Given the description of an element on the screen output the (x, y) to click on. 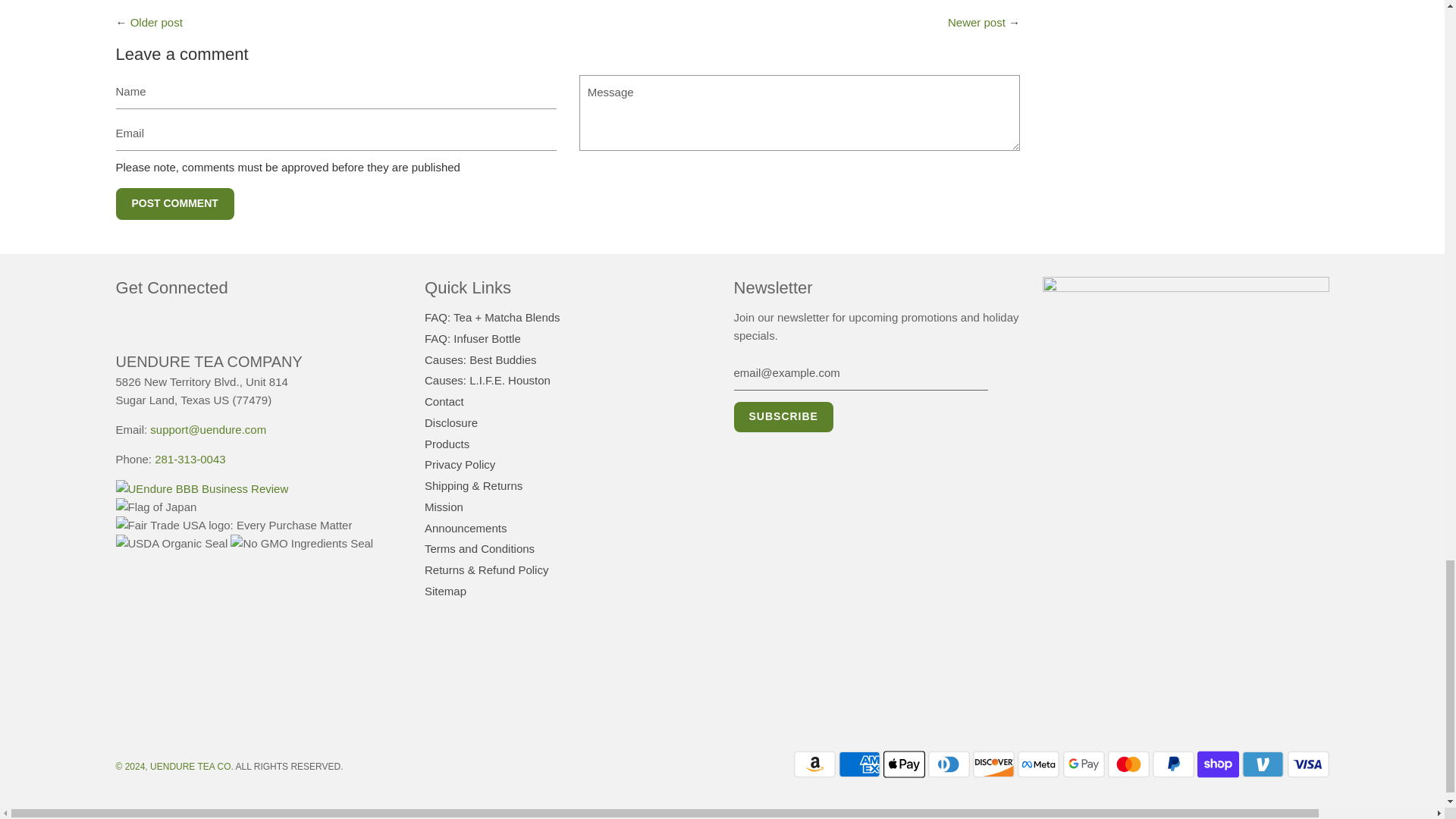
PayPal (1173, 764)
Post comment (173, 204)
Meta Pay (1038, 764)
Apple Pay (903, 764)
Discover (993, 764)
A product of Japan (155, 506)
A Fair Trade Partner (233, 525)
Amazon (814, 764)
American Express (859, 764)
No GMO Ingredients (301, 543)
